Given the description of an element on the screen output the (x, y) to click on. 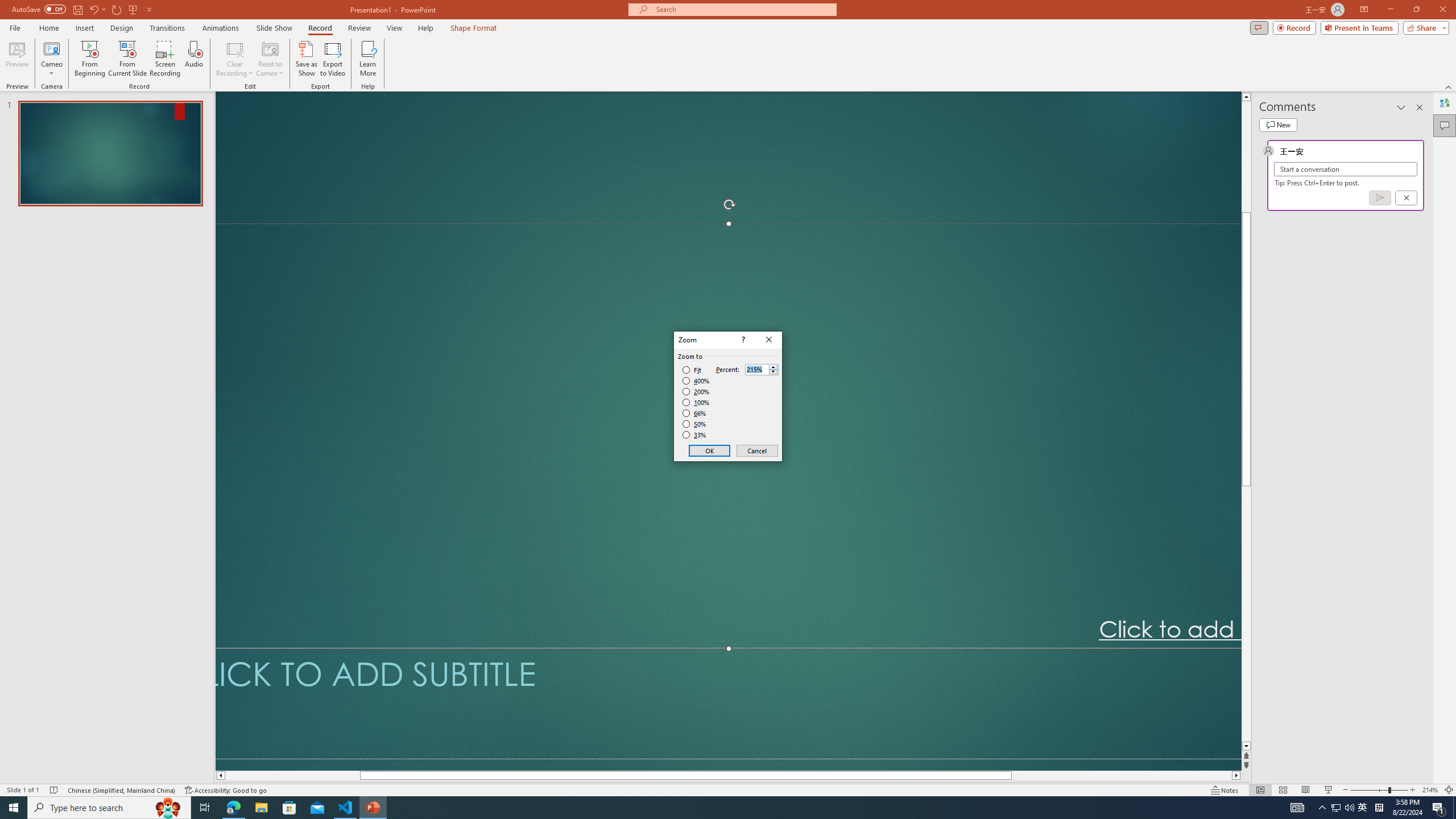
100% (696, 402)
Reset to Cameo (269, 58)
Context help (742, 339)
50% (694, 424)
Percent (756, 369)
